Given the description of an element on the screen output the (x, y) to click on. 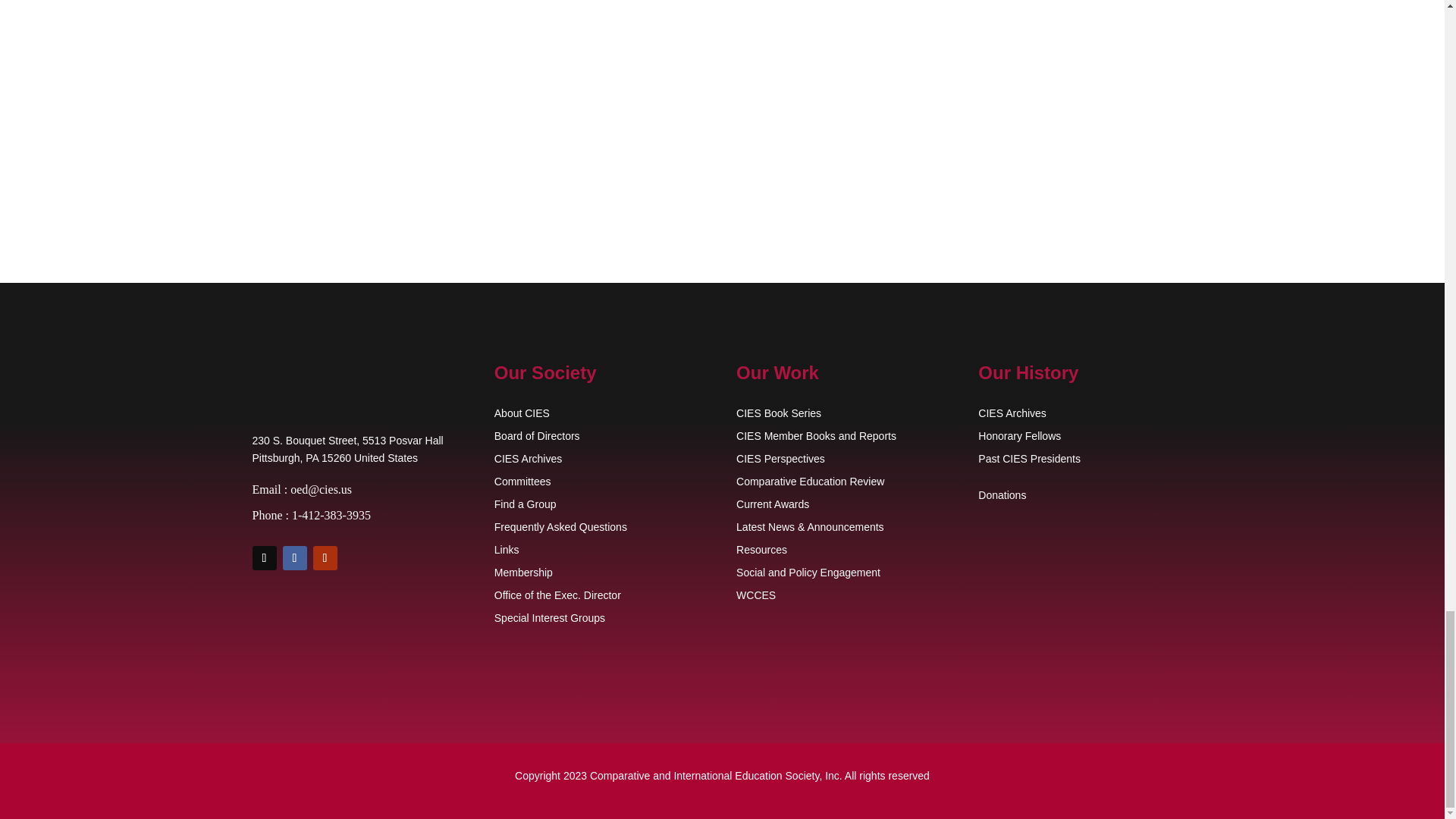
Follow on Youtube (324, 558)
Follow on Facebook (293, 558)
Follow on X (263, 558)
